Given the description of an element on the screen output the (x, y) to click on. 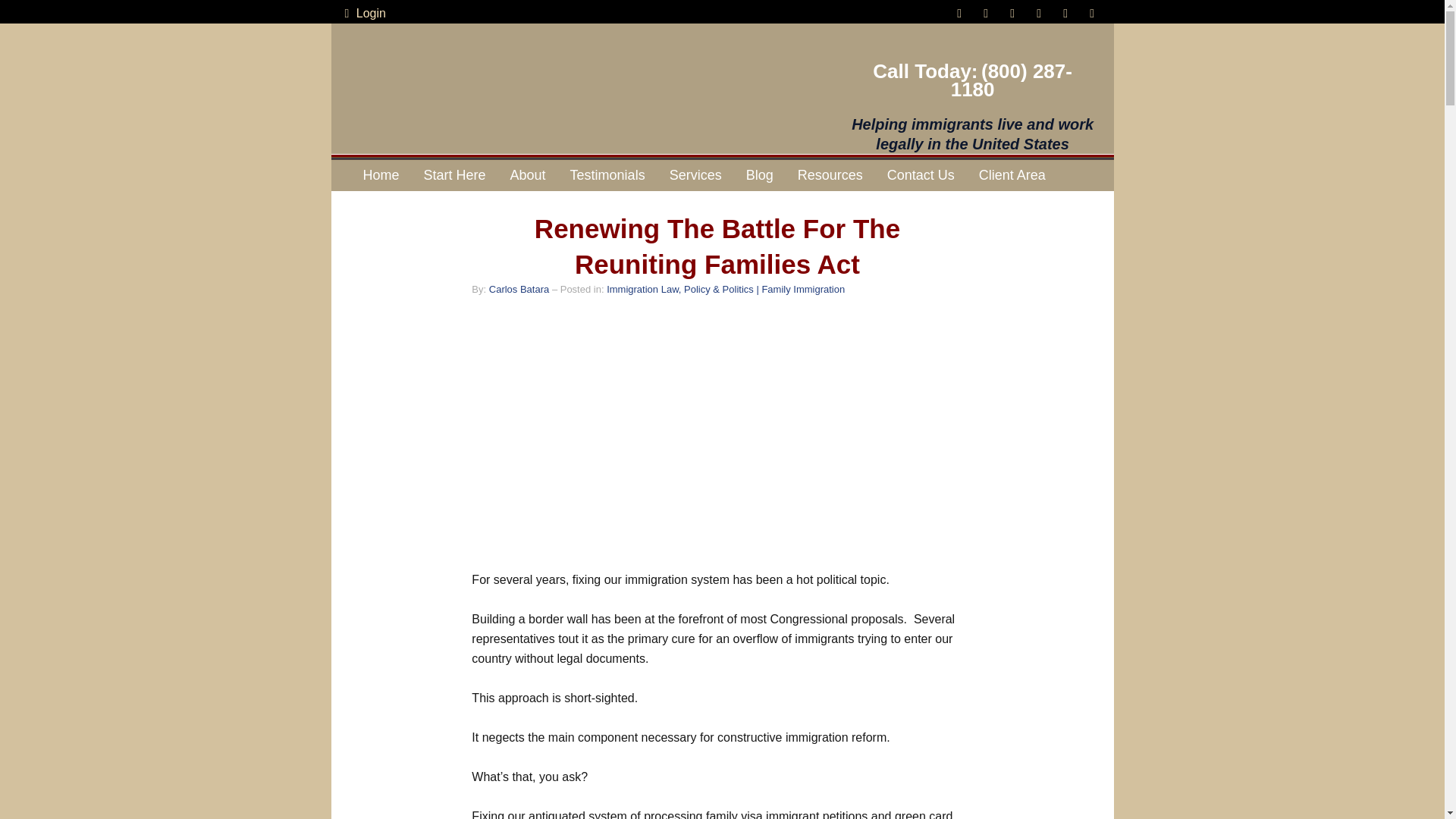
Resources (830, 174)
Login (362, 13)
Testimonials (607, 174)
Client Area (1012, 174)
Carlos Batara (518, 288)
Services (695, 174)
Home (380, 174)
About (527, 174)
Start Here (454, 174)
Contact Us (920, 174)
Blog (759, 174)
